Given the description of an element on the screen output the (x, y) to click on. 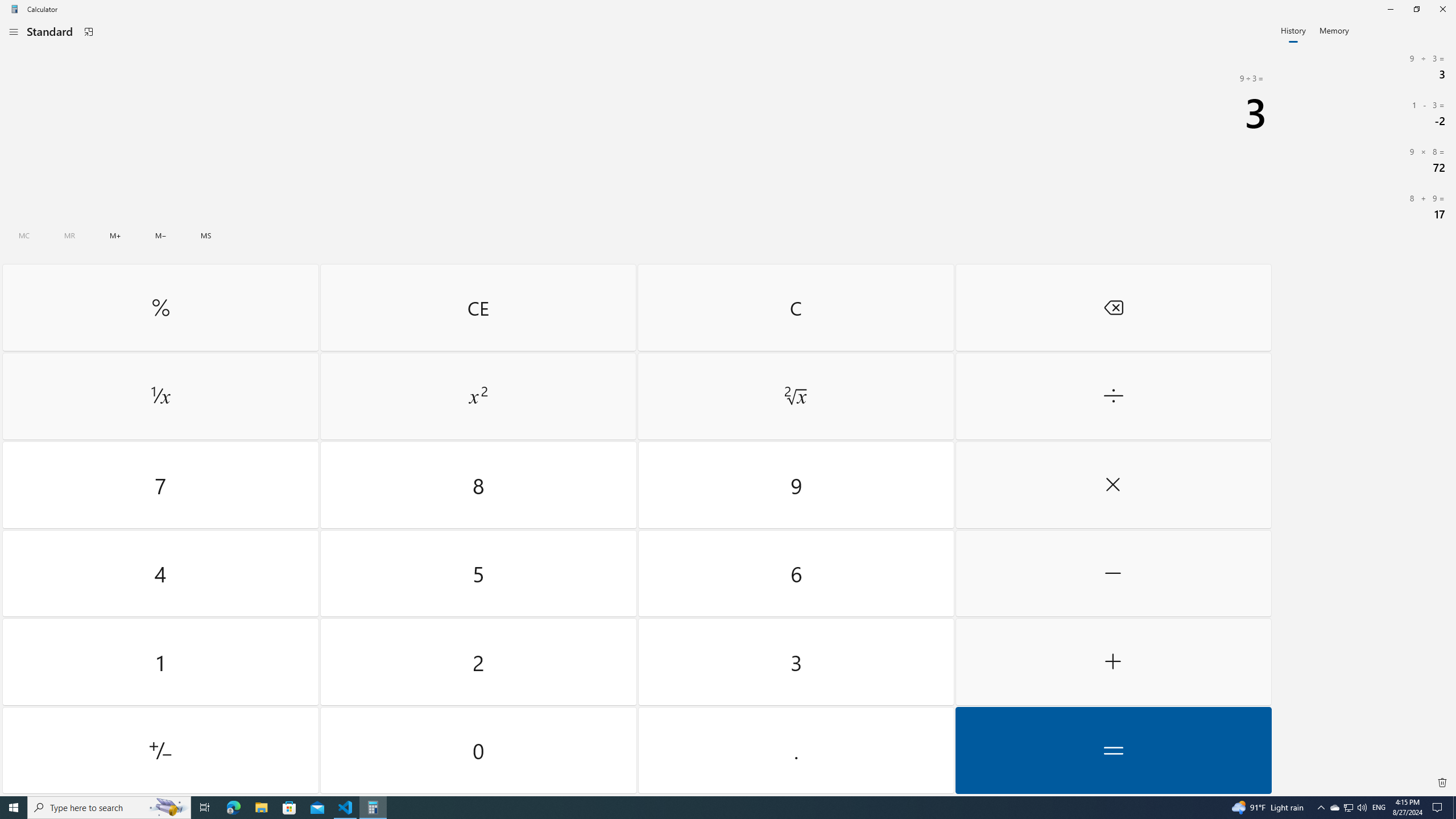
1 Minus ( 3= Minus (2 (1364, 113)
Memory add (115, 235)
Five (478, 572)
Percent (160, 307)
Nine (795, 485)
8 + 9= 17 (1364, 206)
History (1293, 29)
Square (478, 396)
